Given the description of an element on the screen output the (x, y) to click on. 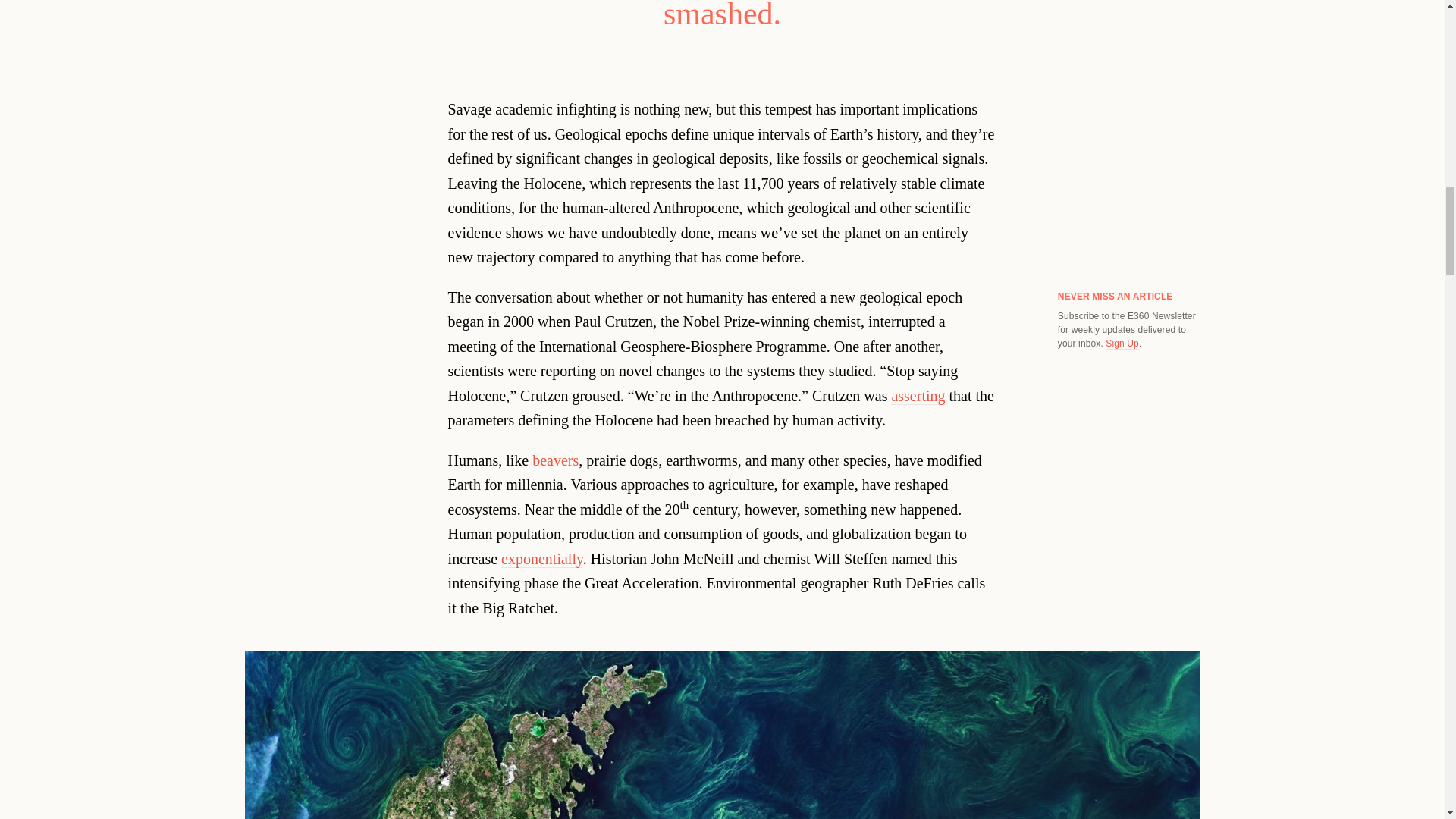
asserting (917, 395)
beavers (555, 460)
exponentially (541, 559)
Sign Up (1121, 343)
